Given the description of an element on the screen output the (x, y) to click on. 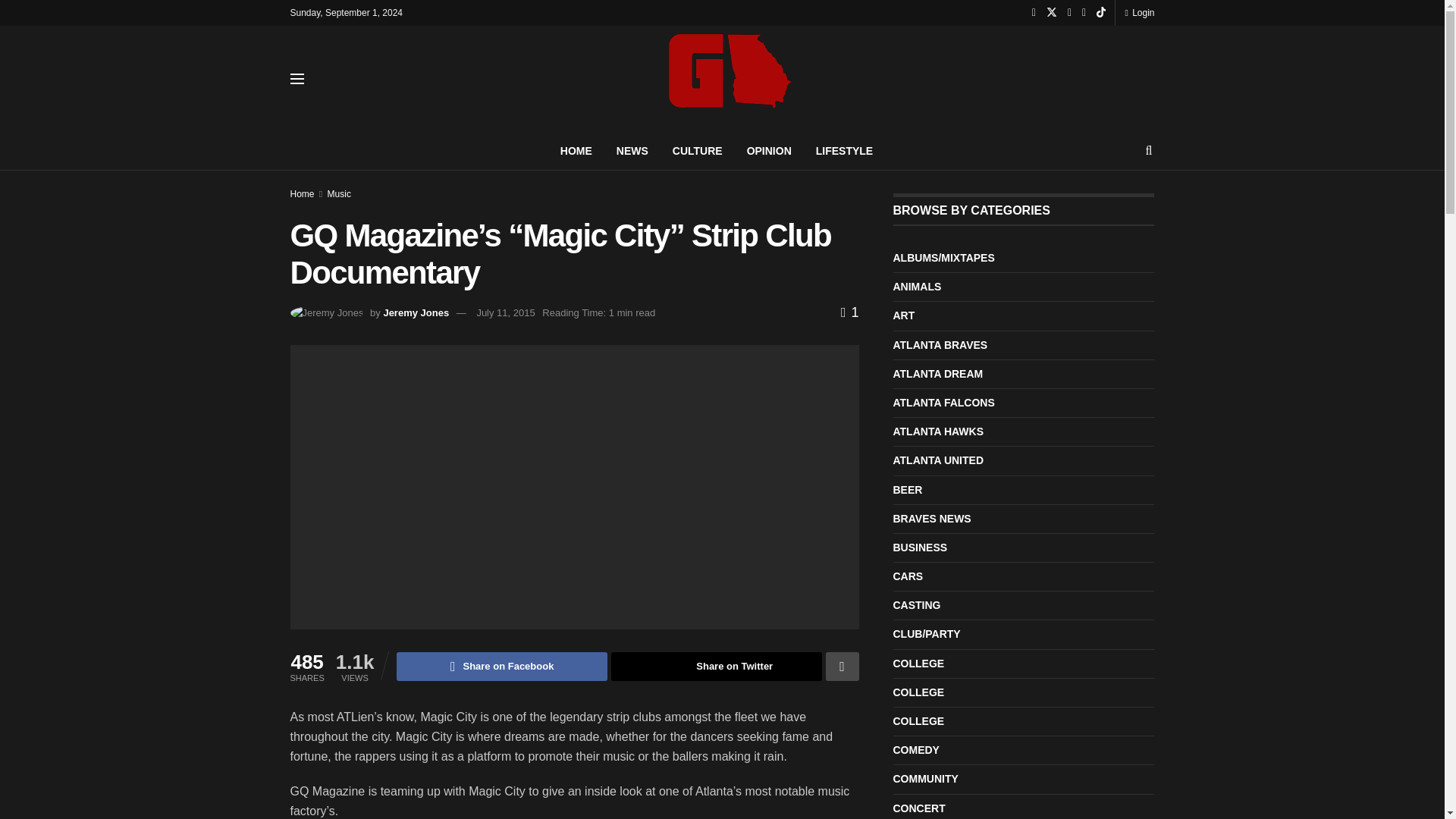
NEWS (632, 150)
July 11, 2015 (505, 312)
HOME (576, 150)
Share on Twitter (716, 665)
OPINION (769, 150)
LIFESTYLE (844, 150)
Login (1139, 12)
Share on Facebook (501, 665)
Music (338, 194)
Home (301, 194)
